Given the description of an element on the screen output the (x, y) to click on. 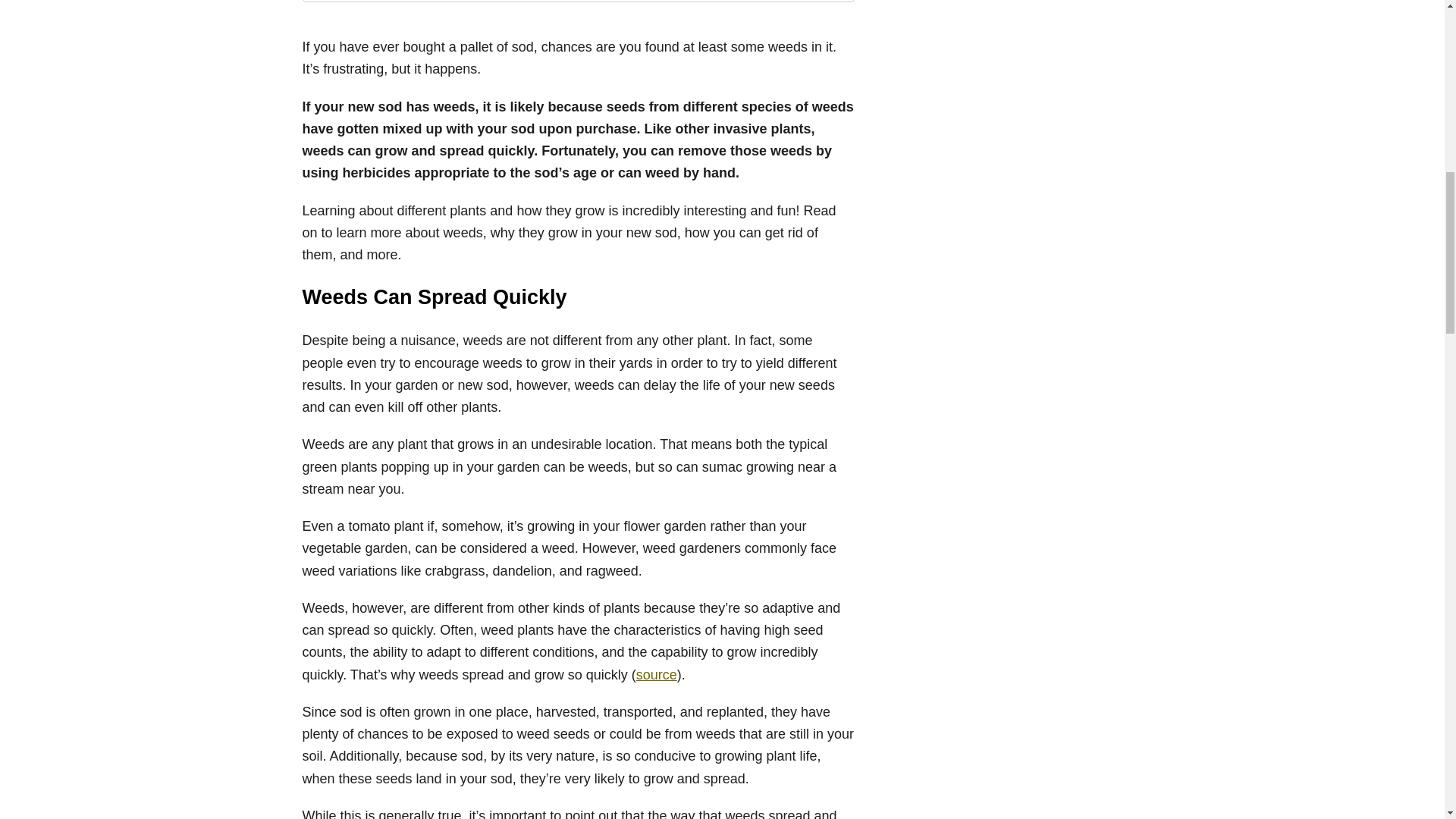
source (656, 674)
